Given the description of an element on the screen output the (x, y) to click on. 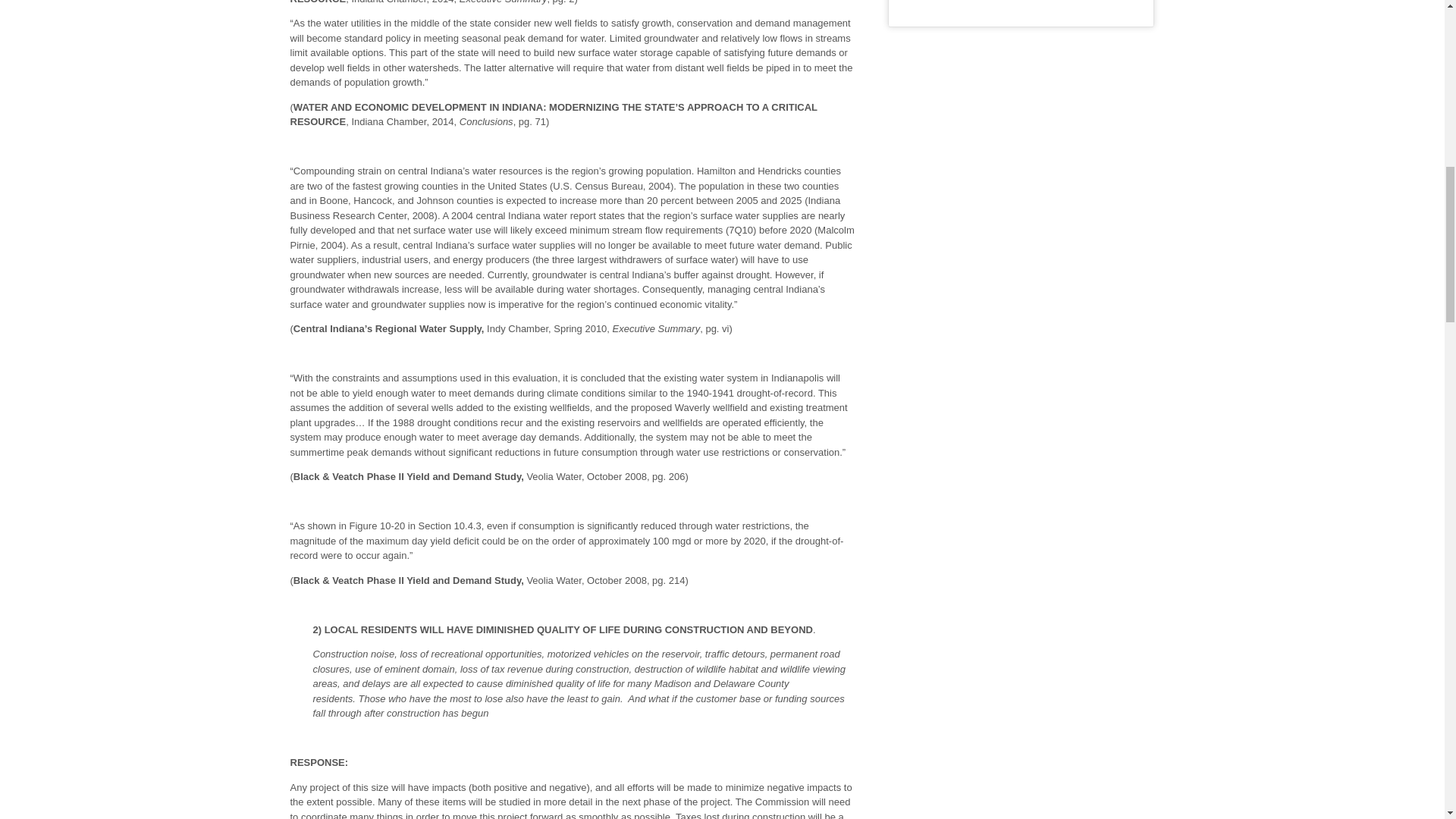
YouTube player (1020, 8)
